Given the description of an element on the screen output the (x, y) to click on. 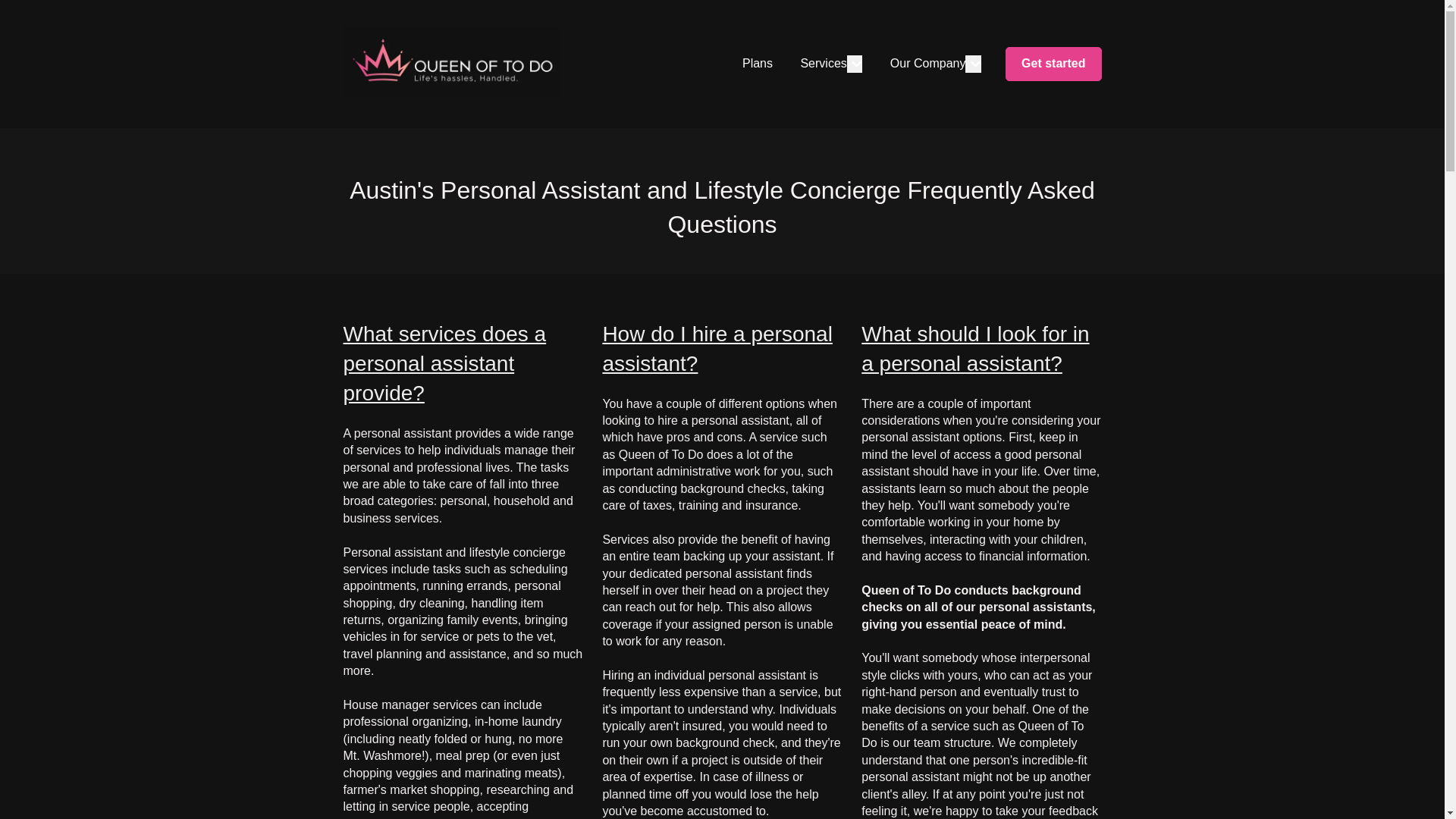
Services (822, 63)
Plans (757, 63)
Our Company (927, 63)
